Given the description of an element on the screen output the (x, y) to click on. 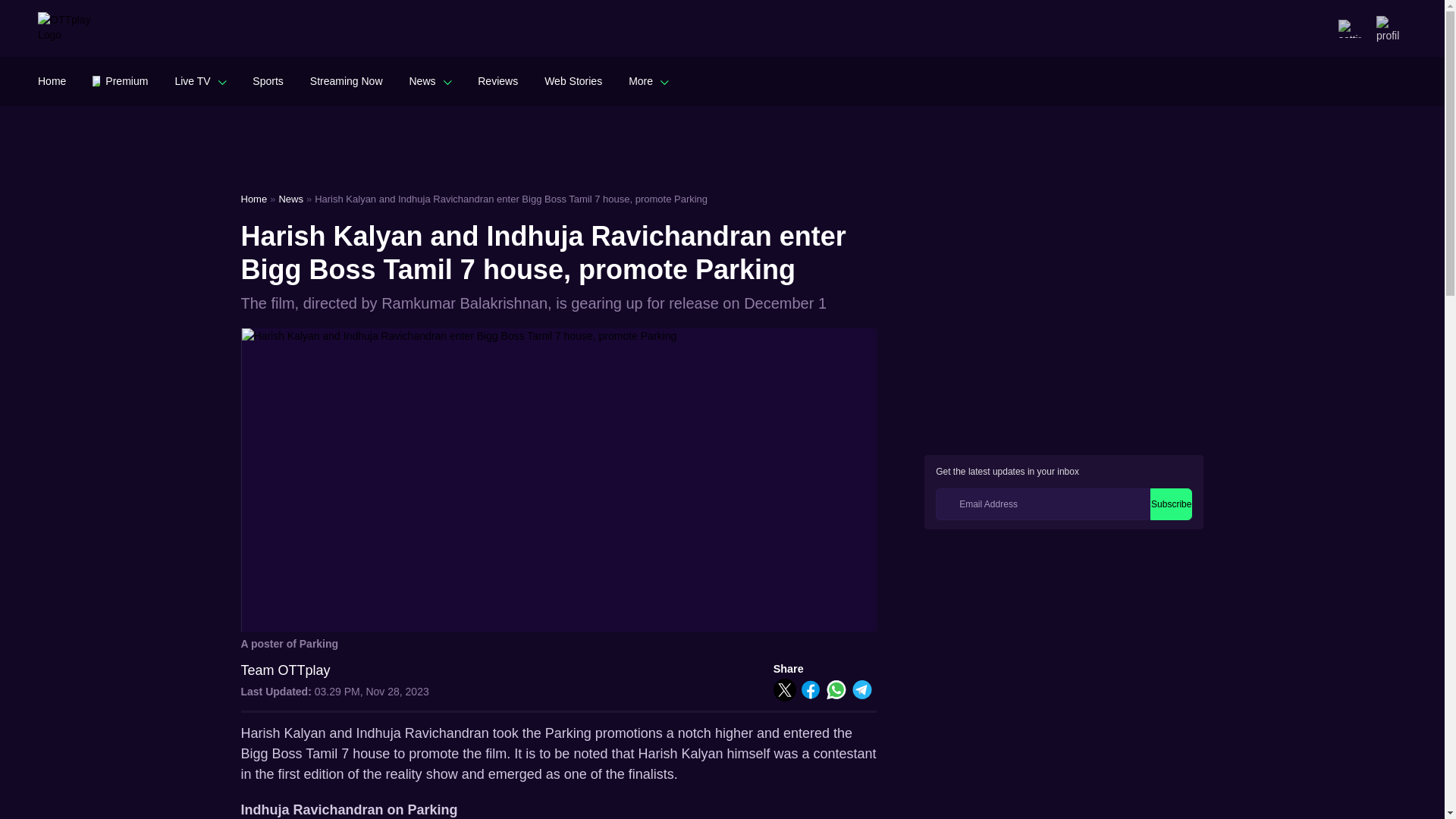
Web Stories (573, 80)
Live TV (199, 80)
News (430, 80)
Premium (120, 80)
Streaming Now (346, 80)
